Given the description of an element on the screen output the (x, y) to click on. 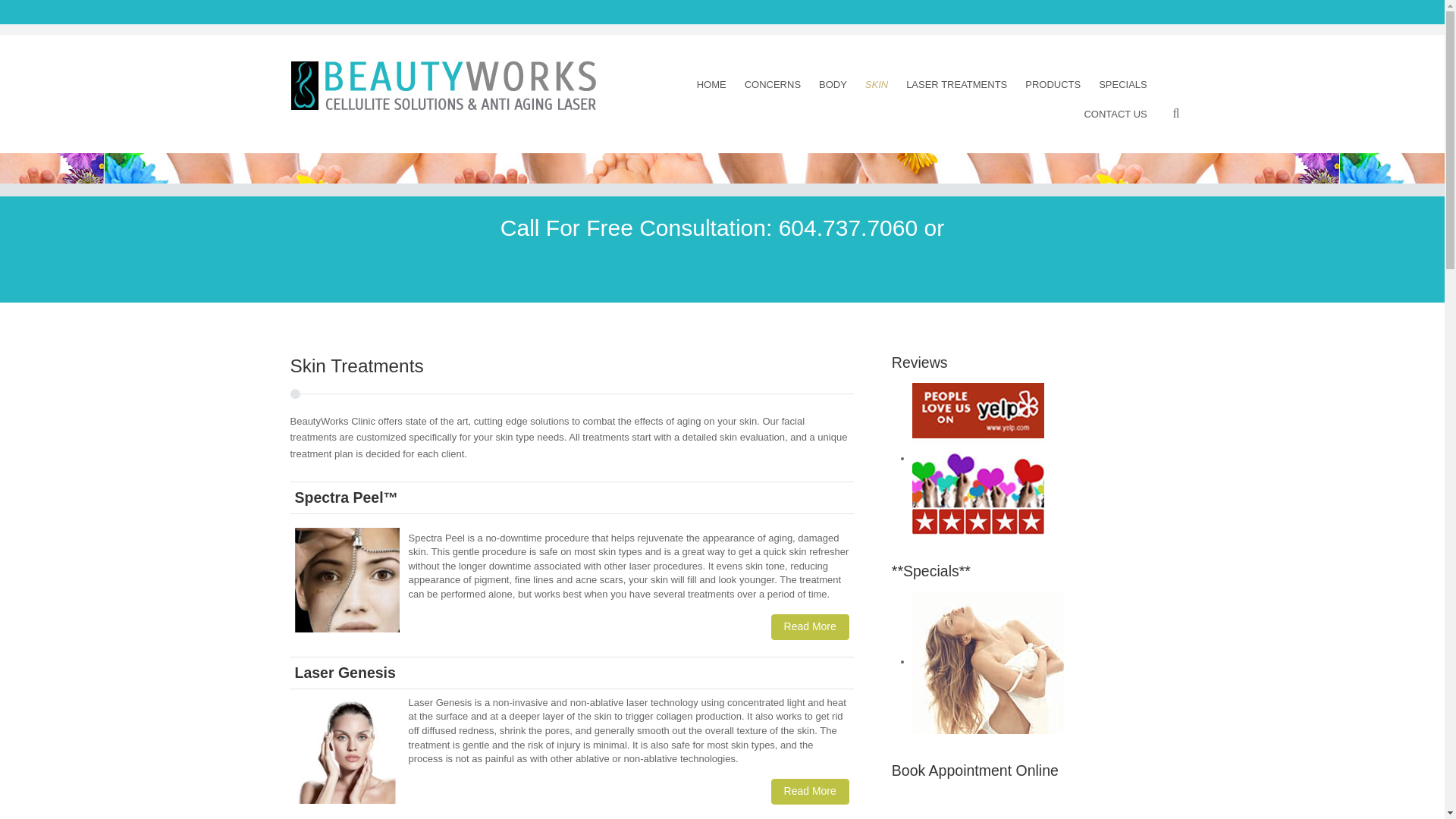
BEAUTYWORKS (443, 85)
CONCERNS (772, 84)
HOME (710, 84)
Specials at BeautyWorks (988, 661)
Specials at BeautyWorks (988, 662)
SKIN (876, 84)
BODY (831, 84)
